Given the description of an element on the screen output the (x, y) to click on. 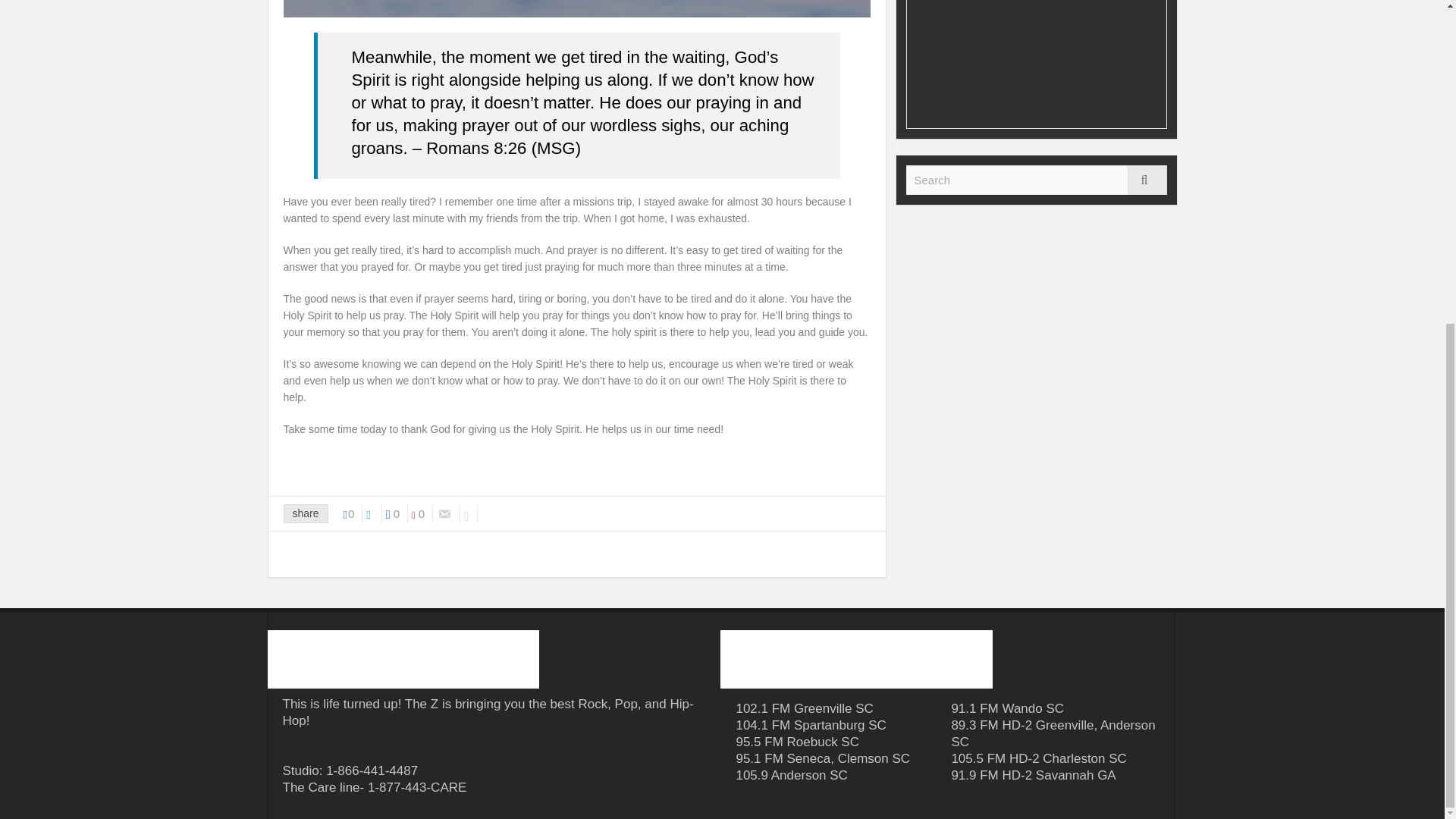
Search (1035, 179)
0 (422, 513)
0 (352, 513)
0 (396, 513)
Search for: (1035, 179)
Search (1035, 179)
Search (1146, 179)
